Given the description of an element on the screen output the (x, y) to click on. 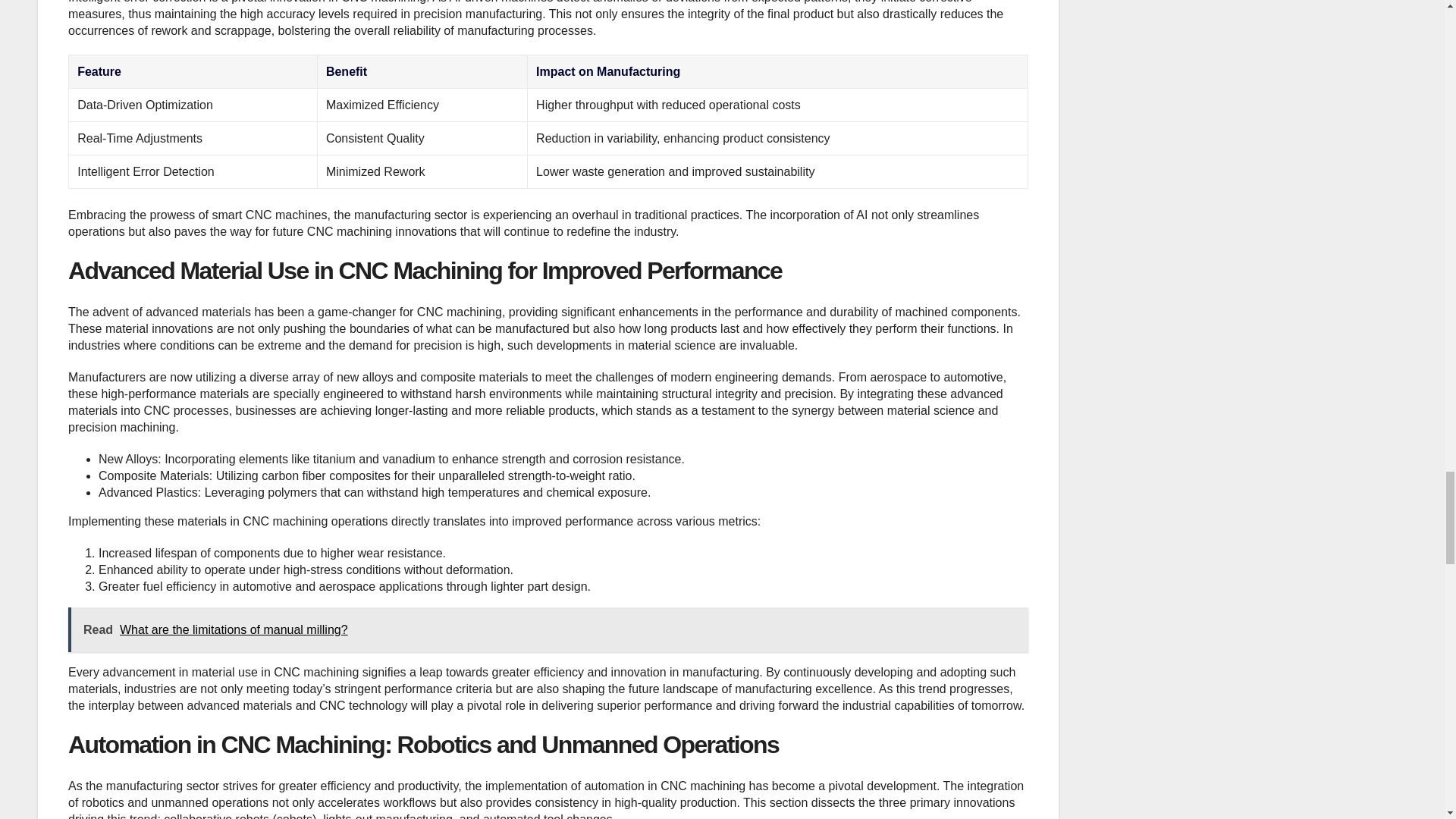
carbon (280, 475)
Read  What are the limitations of manual milling? (547, 629)
